Given the description of an element on the screen output the (x, y) to click on. 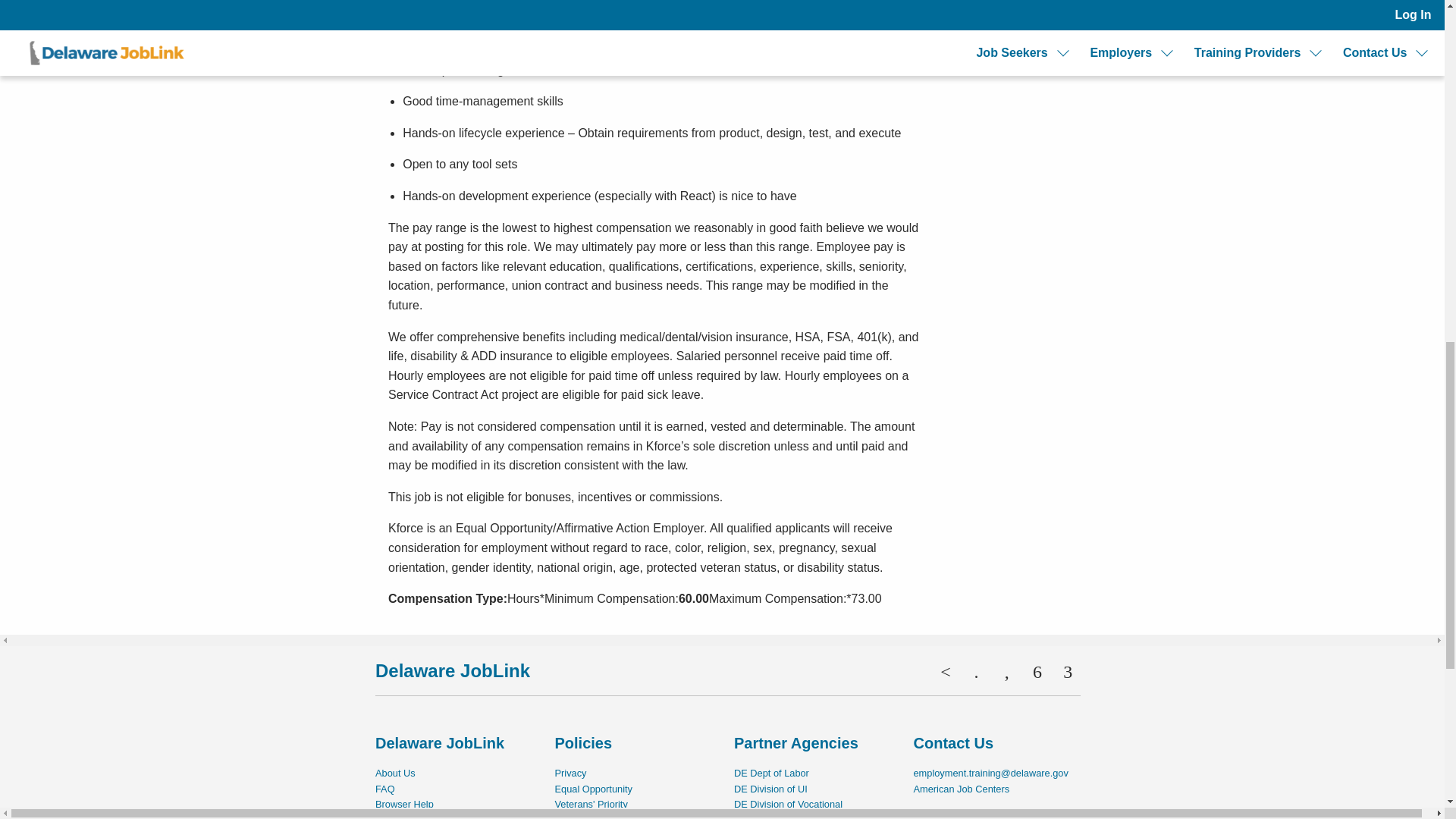
About Us (394, 772)
Browser Help (404, 803)
FAQ (384, 788)
Protect Yourself (409, 816)
Delaware JobLink (452, 670)
